Given the description of an element on the screen output the (x, y) to click on. 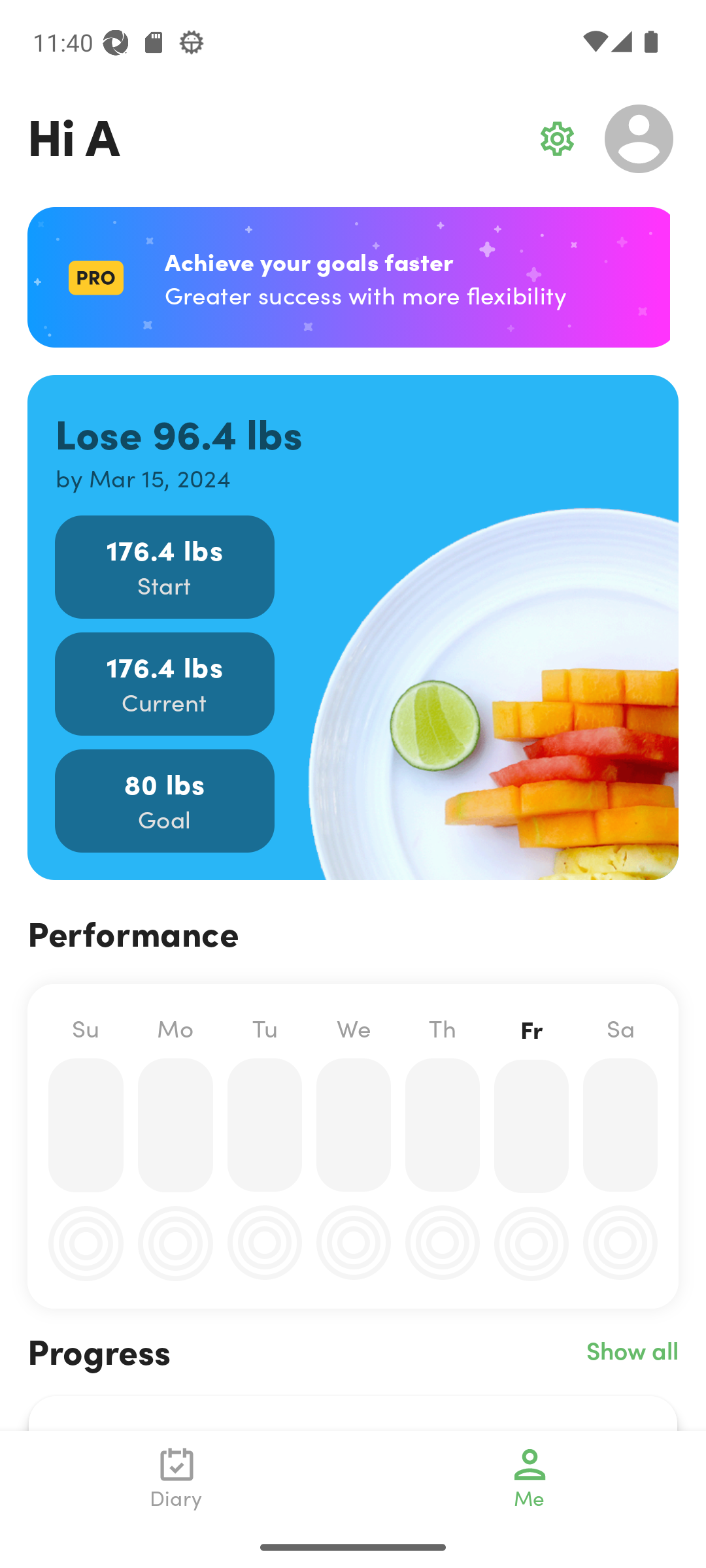
settings_action (556, 138)
profile_photo_action (638, 138)
Diary navigation_icon (176, 1478)
